Given the description of an element on the screen output the (x, y) to click on. 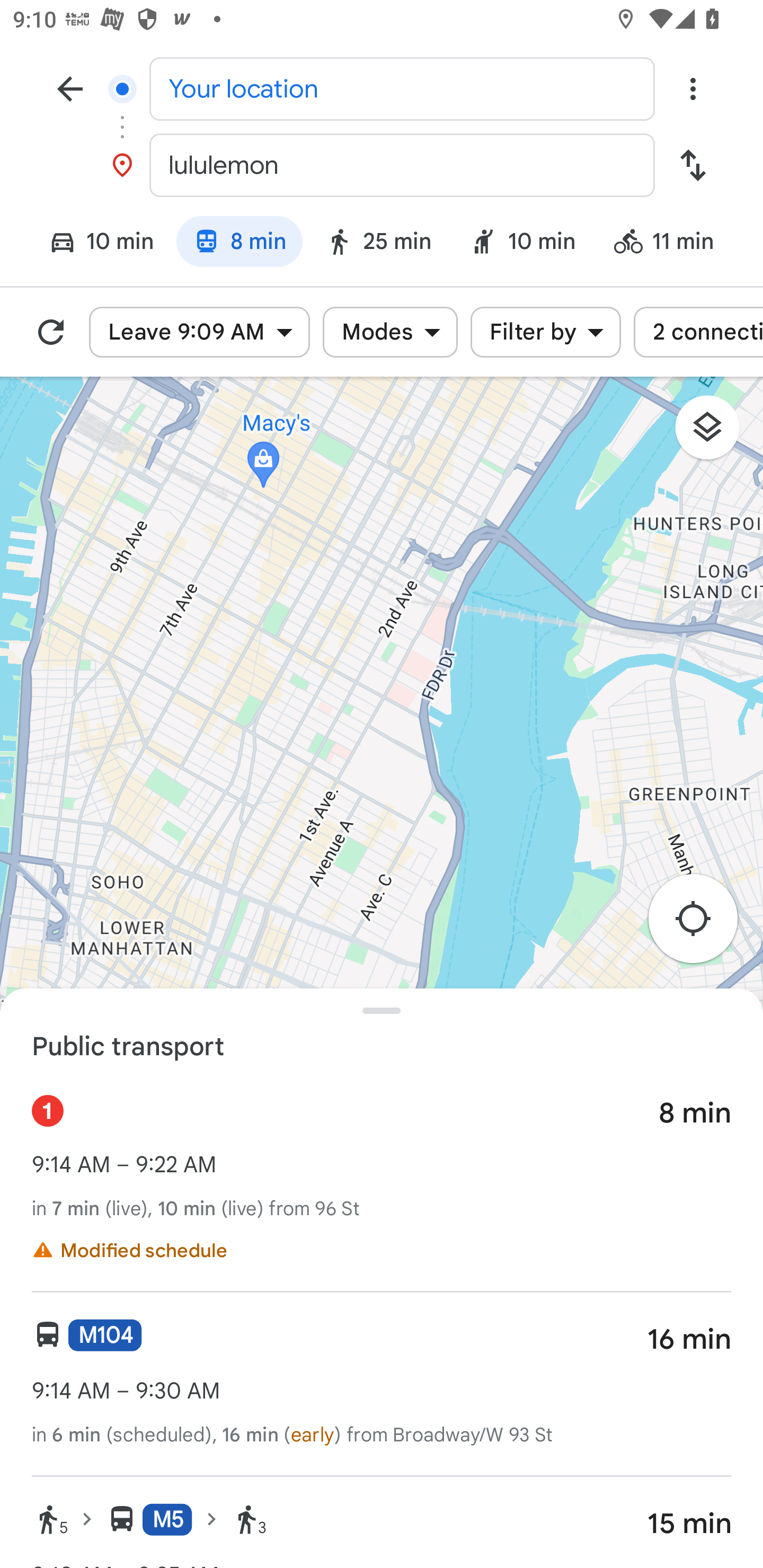
Navigate up (70, 88)
Your location Start location, Your location (381, 88)
Overflow menu (692, 88)
lululemon Destination, lululemon (381, 165)
Swap start and destination (692, 165)
Driving mode: 10 min 10 min (92, 244)
Walking mode: 25 min 25 min (377, 244)
Ride service: 10 min 10 min (522, 244)
Bicycling mode: 11 min 11 min (672, 244)
Refresh (50, 332)
Leave 9:09 AM (199, 332)
Modes (389, 332)
Filter by (545, 332)
2 connecting modes (698, 332)
Layers (716, 433)
Re-center map to your location (702, 923)
